Given the description of an element on the screen output the (x, y) to click on. 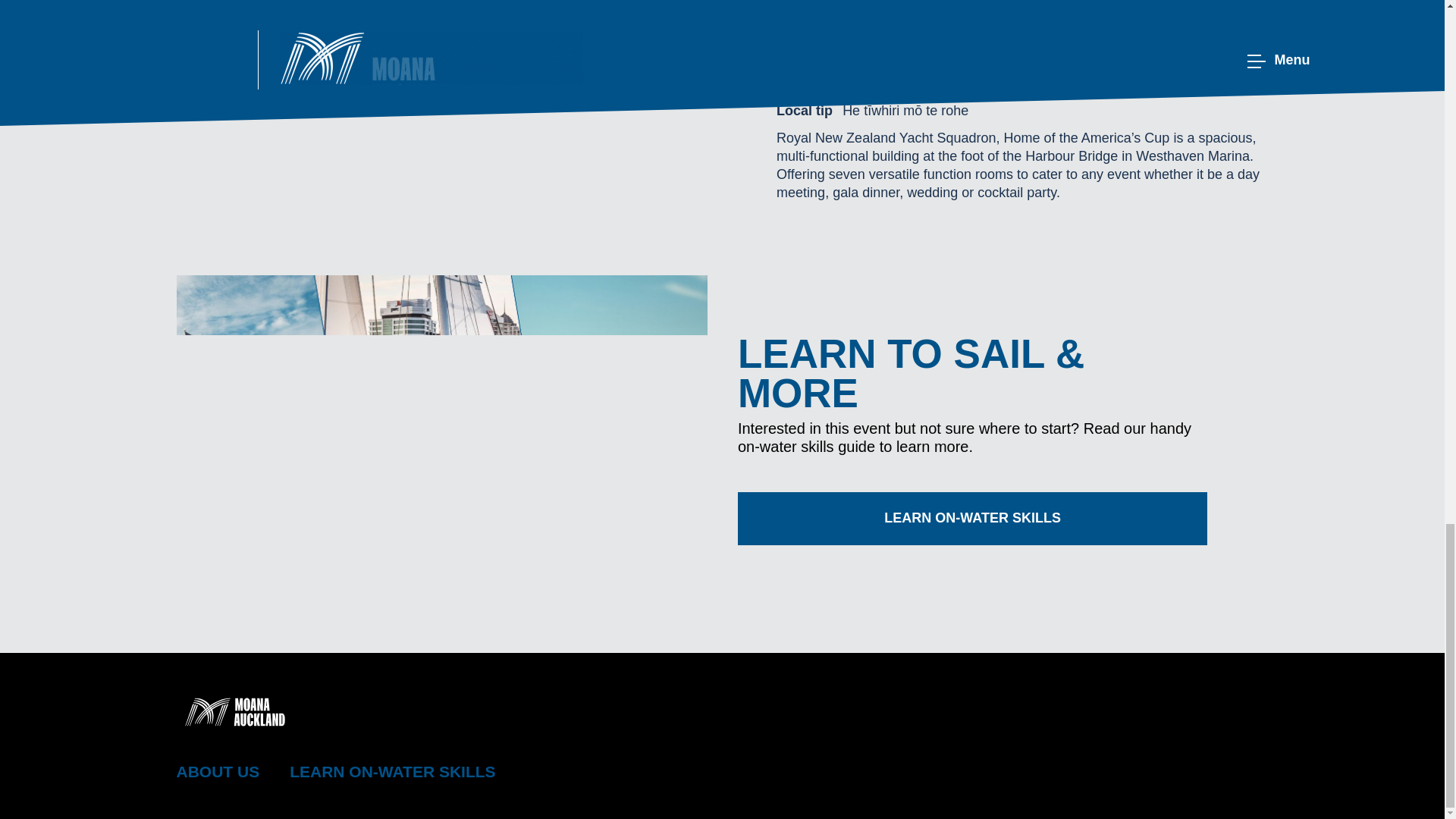
LEARN ON-WATER SKILLS (392, 771)
LEARN ON-WATER SKILLS (973, 518)
ABOUT US (217, 771)
